Given the description of an element on the screen output the (x, y) to click on. 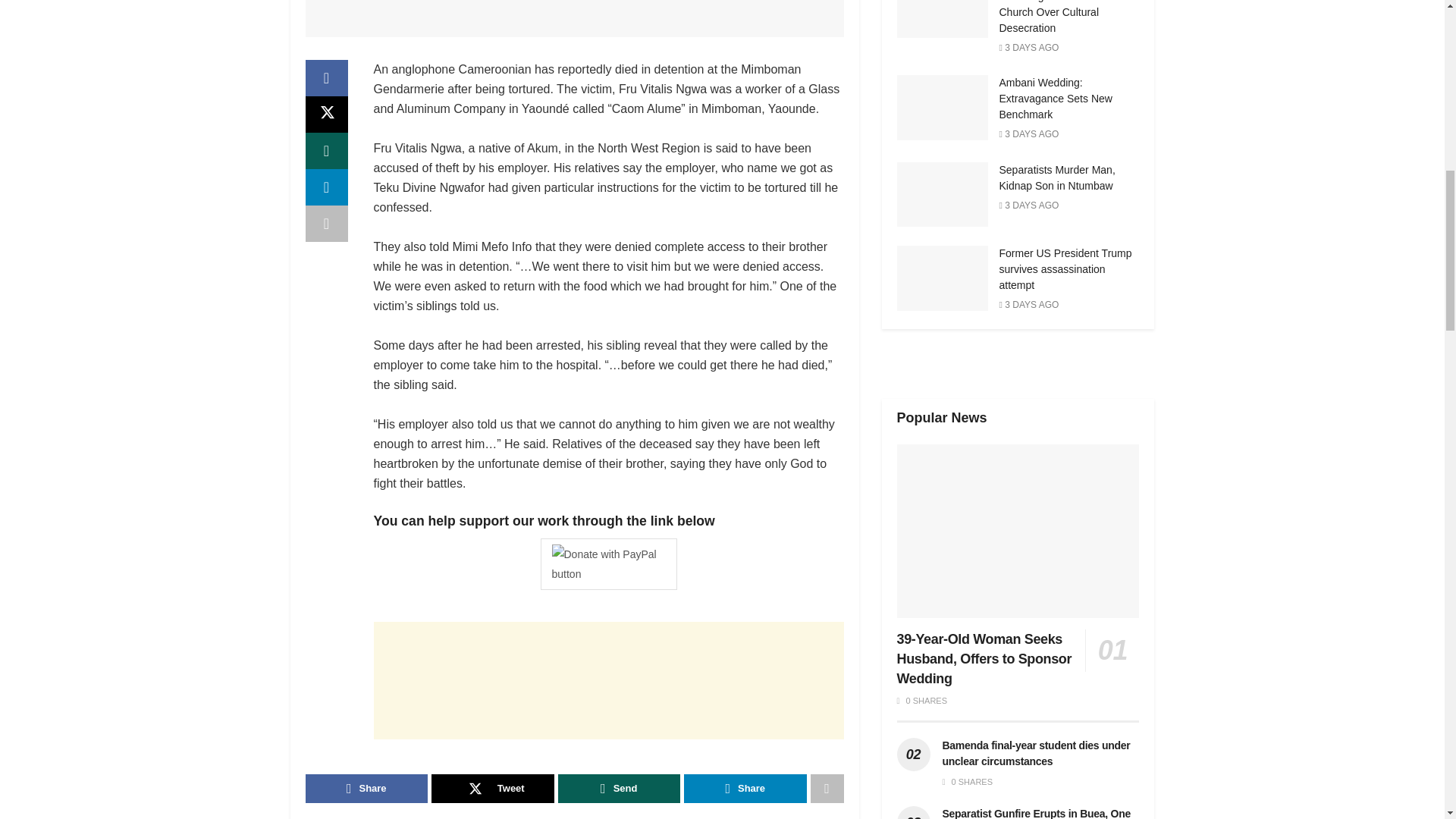
PayPal - The safer, easier way to pay online! (608, 563)
